Given the description of an element on the screen output the (x, y) to click on. 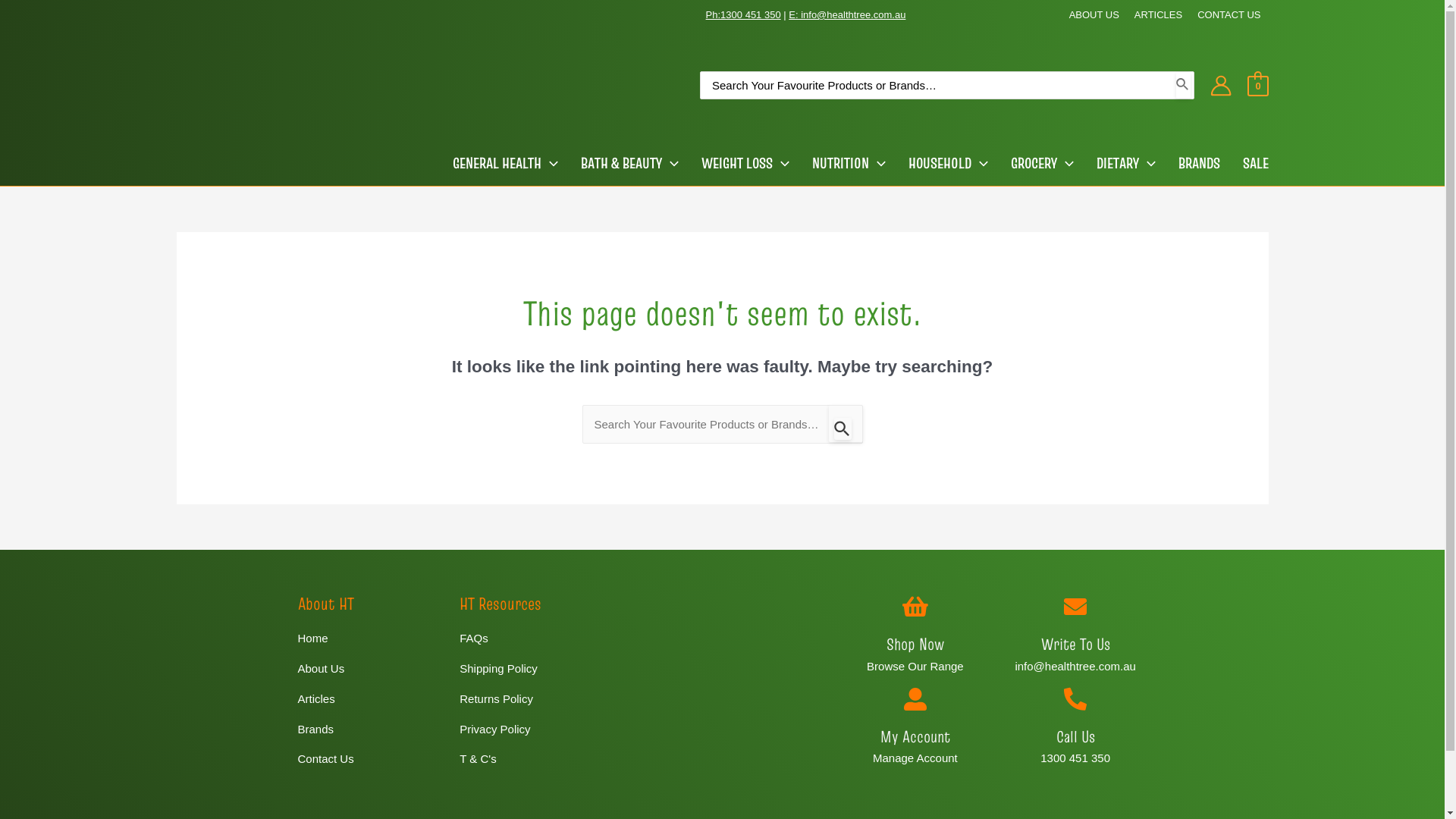
ARTICLES Element type: text (1157, 15)
ABOUT US Element type: text (1093, 15)
Search Element type: text (845, 423)
Search Element type: text (1182, 85)
SALE Element type: text (1243, 162)
Contact Us Element type: text (370, 758)
My Account Element type: text (915, 735)
WEIGHT LOSS Element type: text (732, 162)
FAQs Element type: text (532, 638)
Shipping Policy Element type: text (532, 668)
CONTACT US Element type: text (1228, 15)
DIETARY Element type: text (1114, 162)
Returns Policy Element type: text (532, 698)
E: info@healthtree.com.au Element type: text (846, 14)
HOUSEHOLD Element type: text (936, 162)
NUTRITION Element type: text (836, 162)
Write To Us Element type: text (1075, 643)
Brands Element type: text (370, 729)
About Us Element type: text (370, 668)
T & C's Element type: text (532, 758)
Ph:1300 451 350 Element type: text (743, 14)
Call Us Element type: text (1075, 735)
Privacy Policy Element type: text (532, 729)
BATH & BEAUTY Element type: text (618, 162)
0 Element type: text (1257, 84)
GENERAL HEALTH Element type: text (493, 162)
BRANDS Element type: text (1187, 162)
Home Element type: text (370, 638)
Articles Element type: text (370, 698)
GROCERY Element type: text (1030, 162)
Shop Now Element type: text (915, 643)
